Given the description of an element on the screen output the (x, y) to click on. 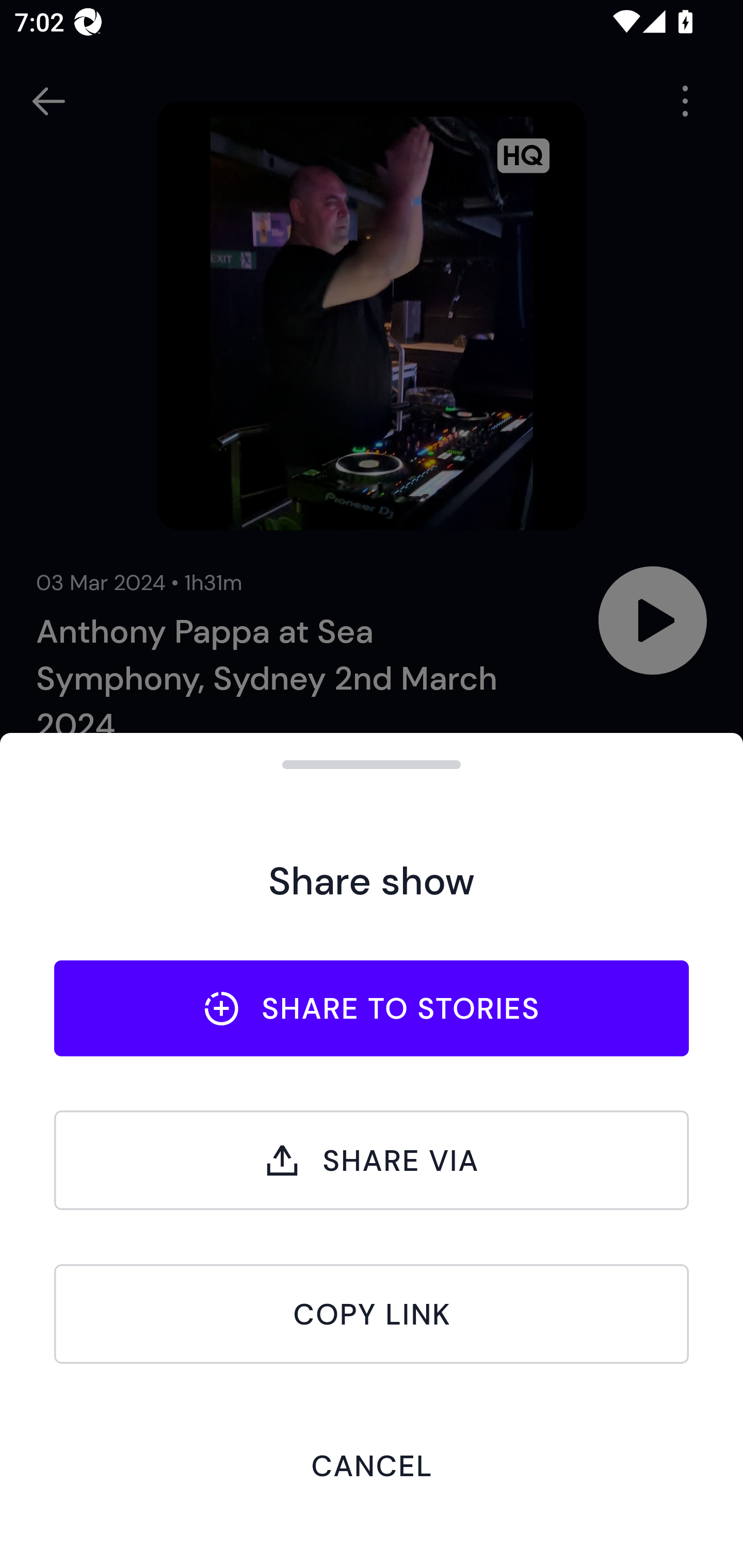
Share to stories SHARE TO STORIES (371, 1007)
Share VIA SHARE VIA (371, 1160)
Cancel CANCEL (371, 1465)
